Given the description of an element on the screen output the (x, y) to click on. 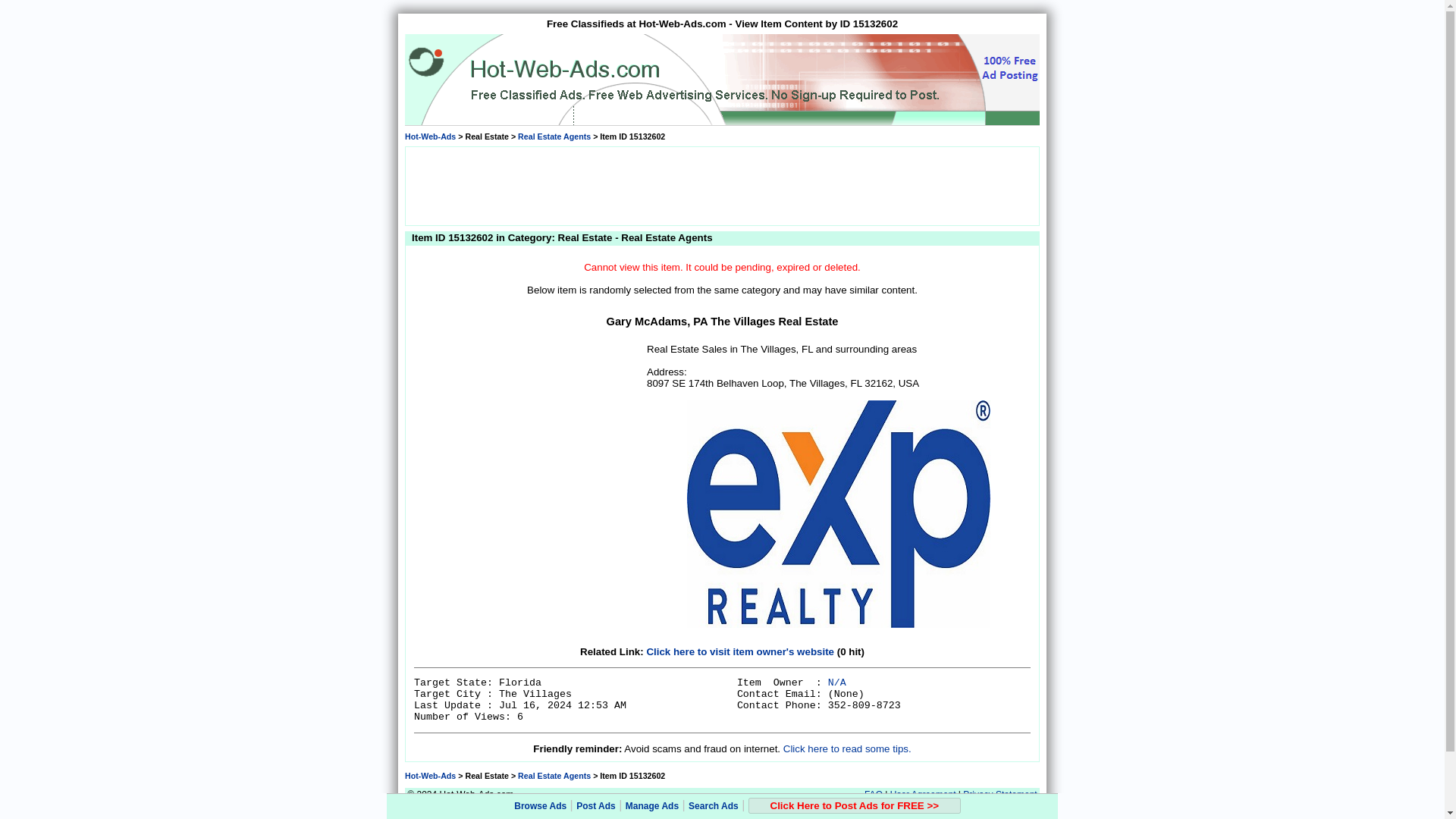
GetJob.us (570, 811)
INNetAds.com (776, 811)
Advertisement (721, 184)
Browse Ads (539, 805)
FAQ (873, 794)
CNNetAds.com (829, 811)
Hot-Web-Ads (429, 135)
Real Estate Agents (554, 775)
Real Estate Agents (554, 135)
Advertisement (527, 436)
Search Ads (713, 805)
USNetAds.com (523, 811)
Manage Ads (652, 805)
Privacy Statement (999, 794)
USAOnlineClassifieds.com (901, 811)
